Given the description of an element on the screen output the (x, y) to click on. 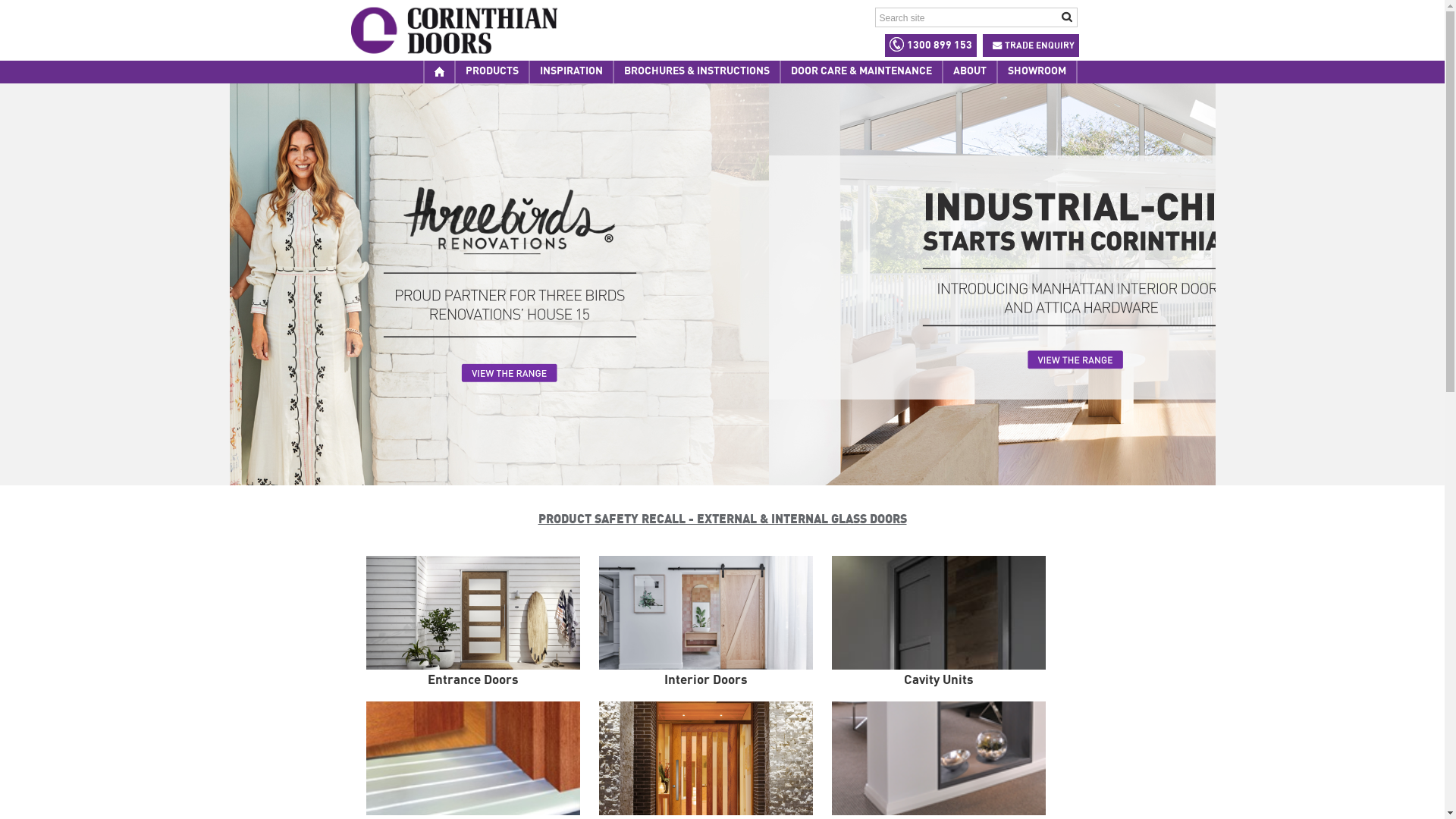
TRADE ENQUIRY Element type: text (1030, 45)
Next Element type: text (1132, 284)
Interior Doors Element type: text (715, 628)
Prev Element type: text (310, 284)
search Element type: text (1067, 16)
INSPIRATION Element type: text (570, 72)
PRODUCT SAFETY RECALL - EXTERNAL & INTERNAL GLASS DOORS Element type: text (721, 518)
PRODUCTS Element type: text (491, 72)
Corinthian Doors Element type: hover (449, 30)
HOME Element type: text (438, 72)
Entrance Doors Element type: text (481, 628)
BROCHURES & INSTRUCTIONS Element type: text (695, 72)
Cavity Units Element type: text (947, 628)
SHOWROOM Element type: text (1036, 72)
ABOUT Element type: text (968, 72)
DOOR CARE & MAINTENANCE Element type: text (860, 72)
